Given the description of an element on the screen output the (x, y) to click on. 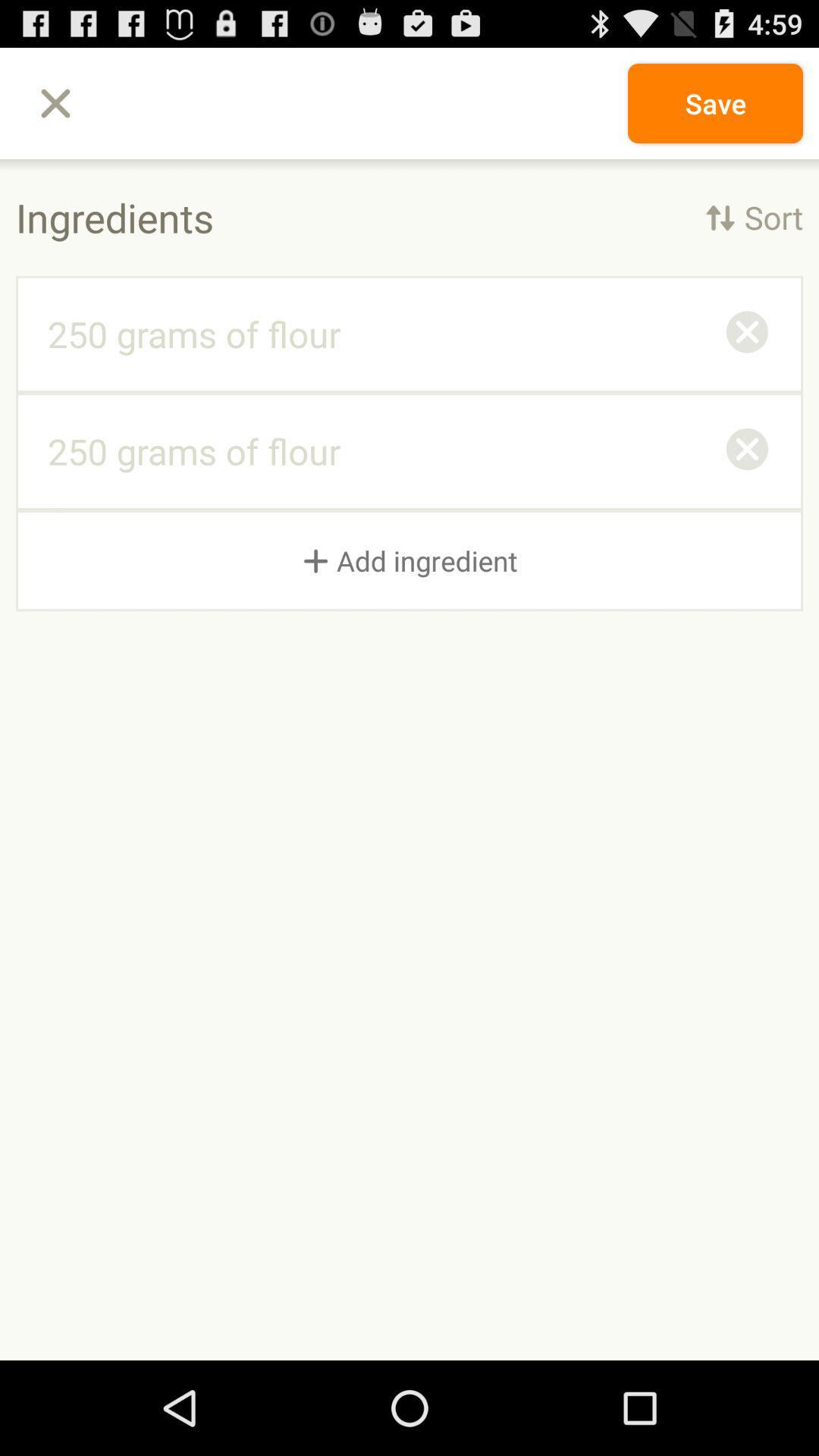
jump until the save icon (715, 103)
